Given the description of an element on the screen output the (x, y) to click on. 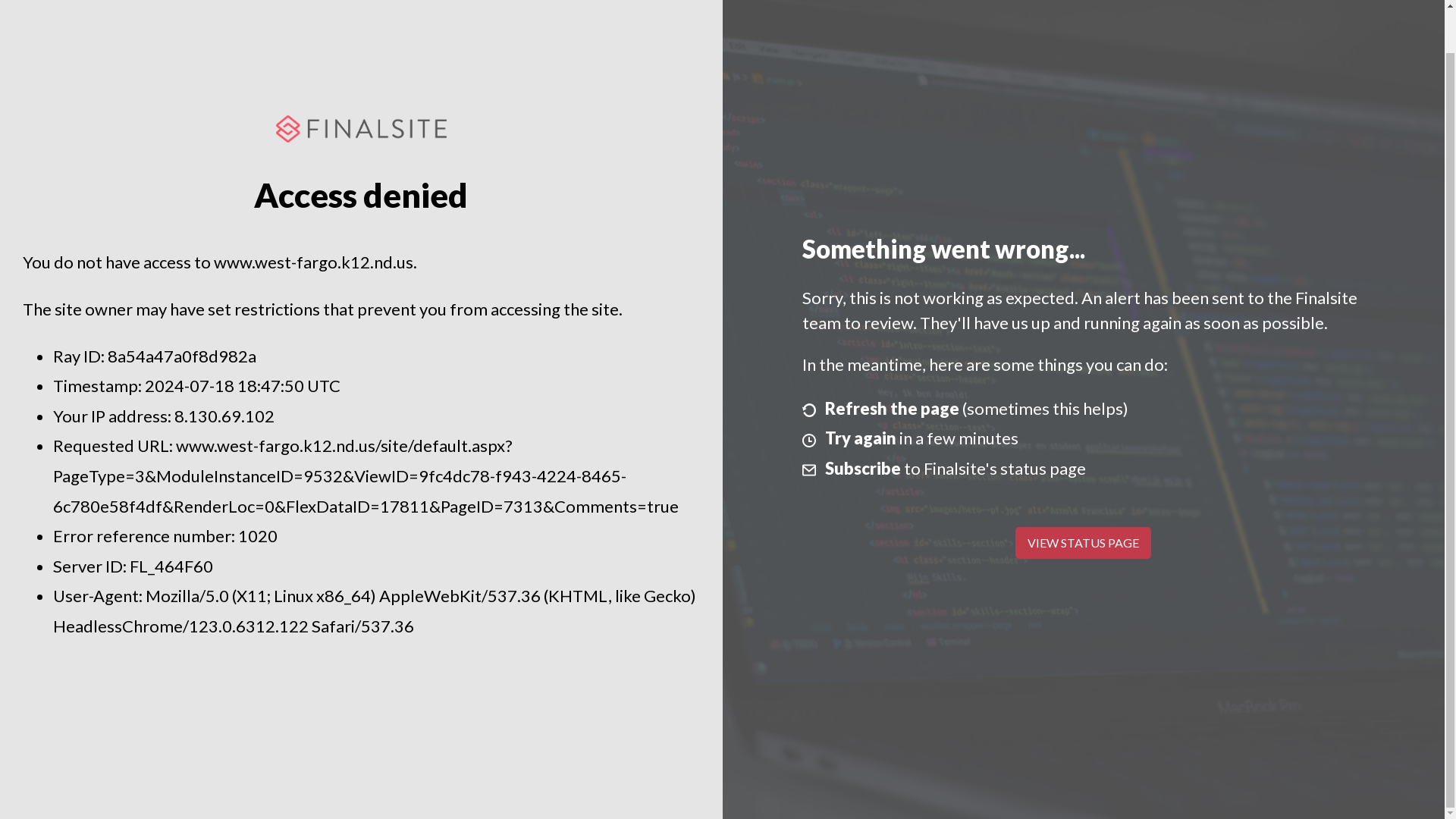
VIEW STATUS PAGE (1082, 542)
